Given the description of an element on the screen output the (x, y) to click on. 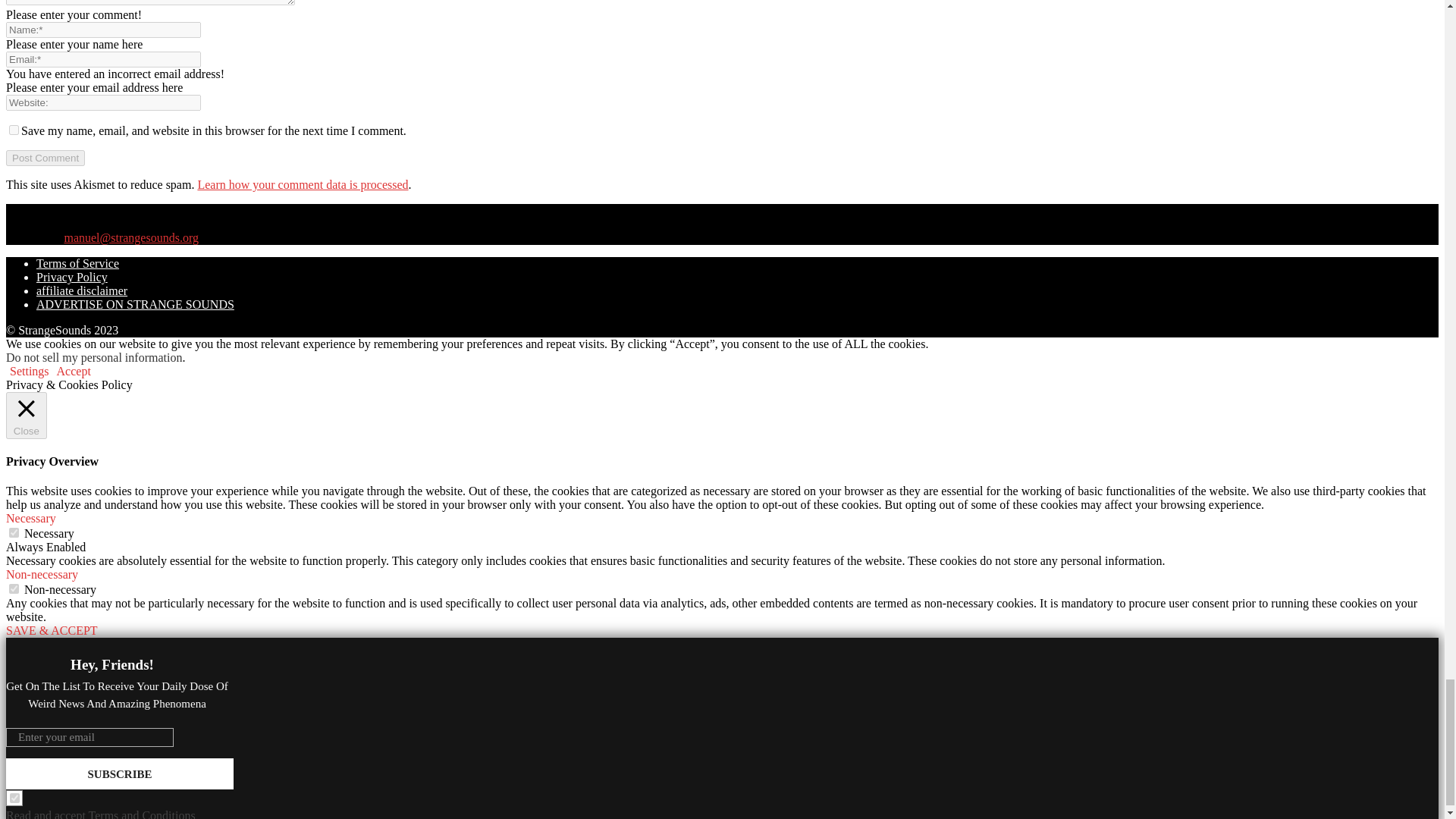
1 (15, 798)
on (13, 588)
on (13, 532)
Post Comment (44, 157)
yes (13, 130)
